Given the description of an element on the screen output the (x, y) to click on. 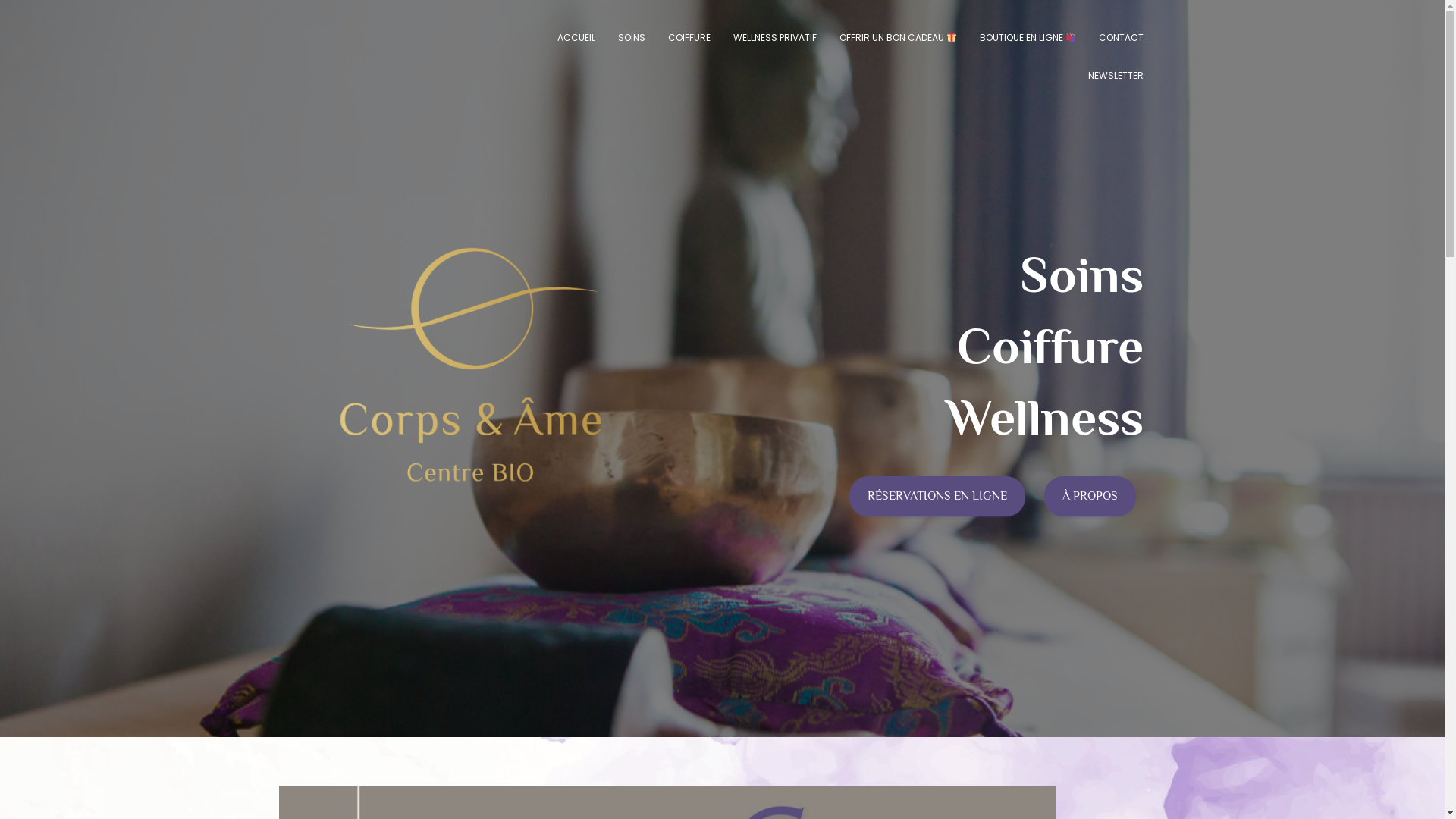
Soins Element type: text (1080, 274)
NEWSLETTER Element type: text (1115, 75)
COIFFURE Element type: text (688, 37)
Wellness Element type: text (1044, 417)
OFFRIR UN BON CADEAU Element type: text (898, 37)
CONTACT Element type: text (1120, 37)
SOINS Element type: text (631, 37)
WELLNESS PRIVATIF Element type: text (774, 37)
BOUTIQUE EN LIGNE Element type: text (1027, 37)
ACCUEIL Element type: text (576, 37)
Coiffure Element type: text (1050, 345)
